Given the description of an element on the screen output the (x, y) to click on. 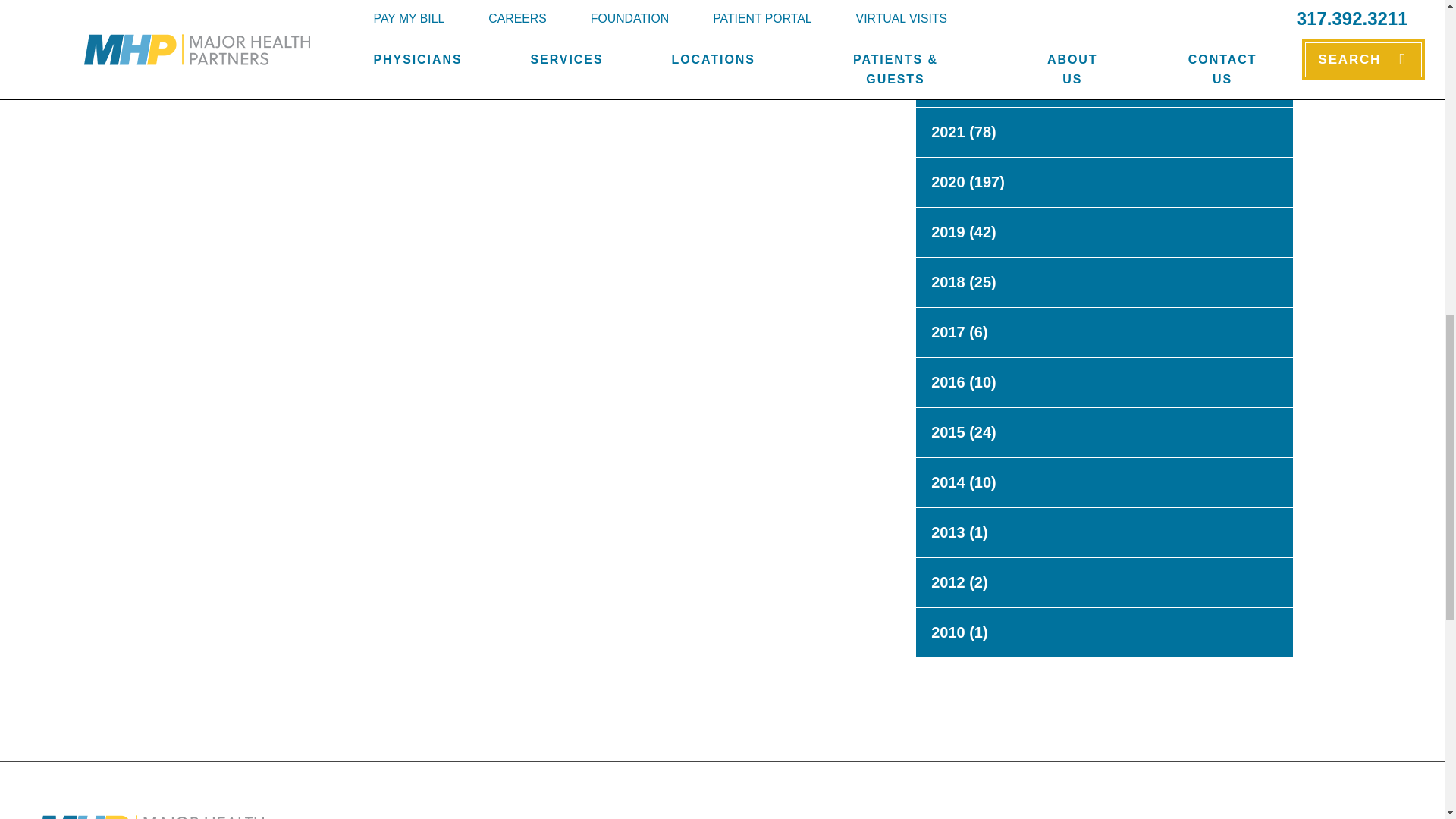
Major Health Partners (150, 816)
CALCIUM HEART SCREENS (242, 24)
BP CUFF PROGRAM (792, 24)
